Given the description of an element on the screen output the (x, y) to click on. 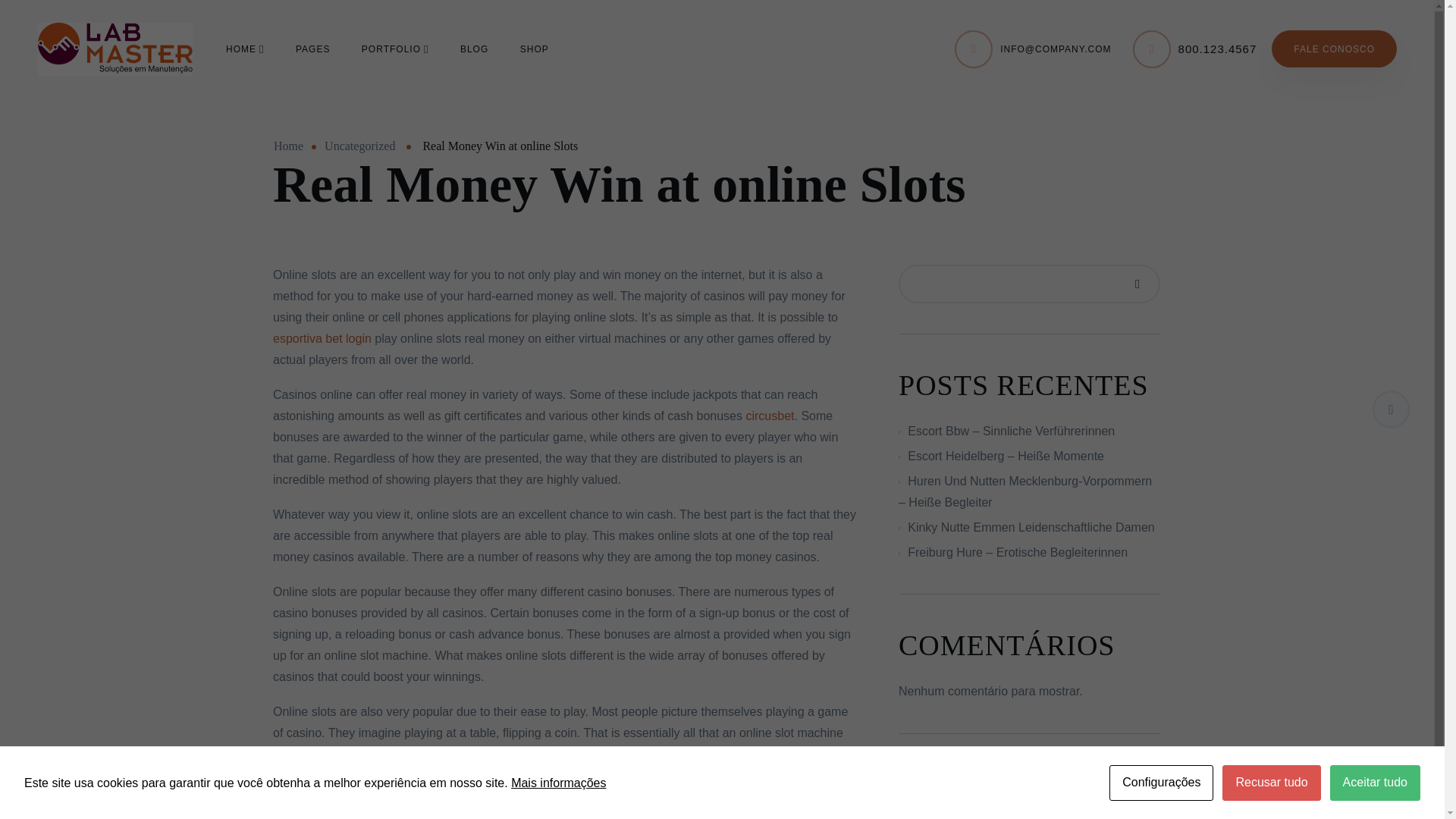
BLOG (473, 48)
HOME (244, 48)
800.123.4567 (1217, 48)
Home (288, 145)
circusbet (769, 415)
Kinky Nutte Emmen Leidenschaftliche Damen (1030, 526)
FALE CONOSCO (1333, 48)
lab (114, 49)
PAGES (312, 48)
Uncategorized (359, 145)
PORTFOLIO (395, 48)
esportiva bet login (322, 338)
SHOP (533, 48)
